Given the description of an element on the screen output the (x, y) to click on. 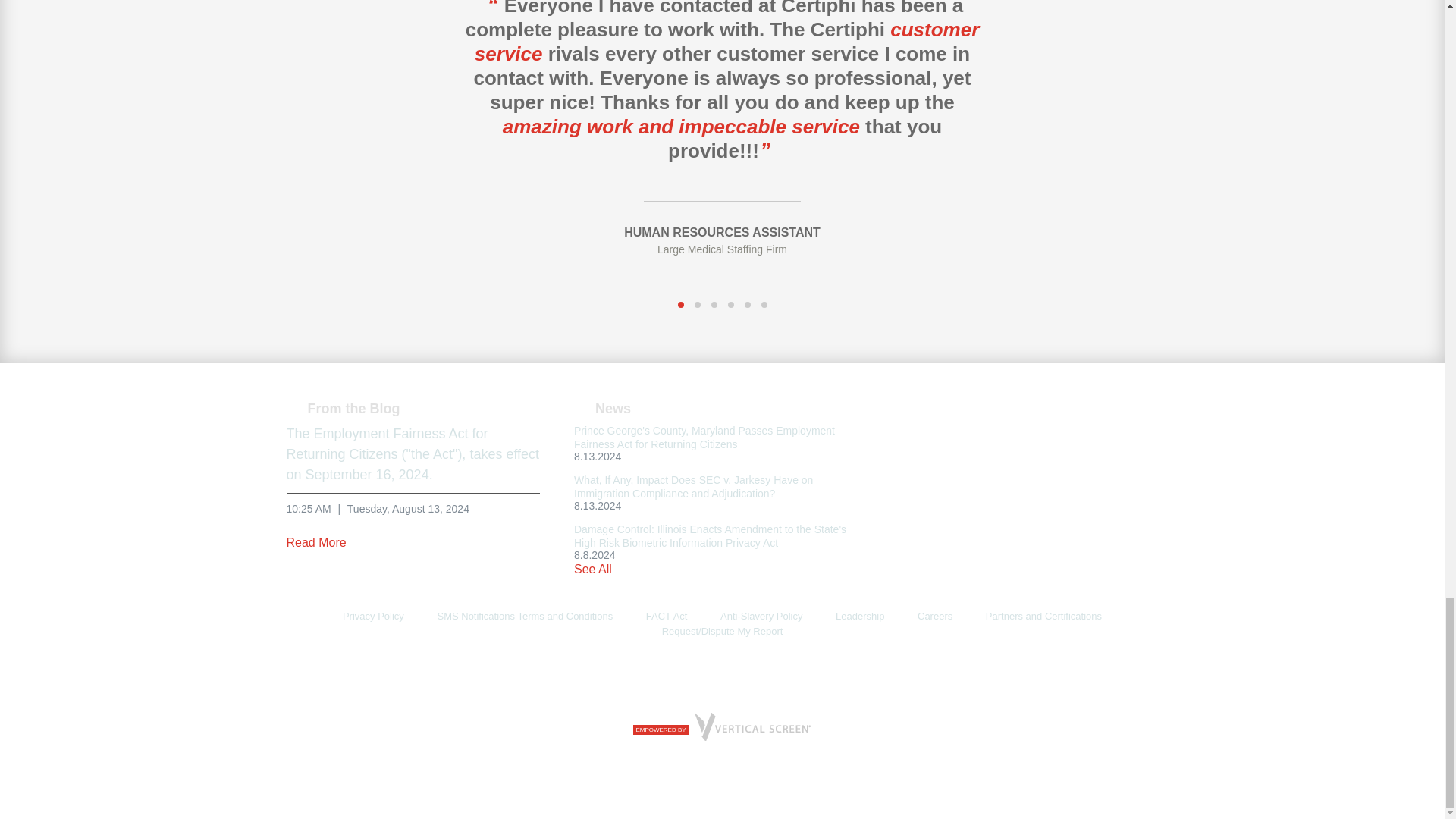
Read More (322, 542)
News (601, 408)
From the Blog (343, 408)
